Given the description of an element on the screen output the (x, y) to click on. 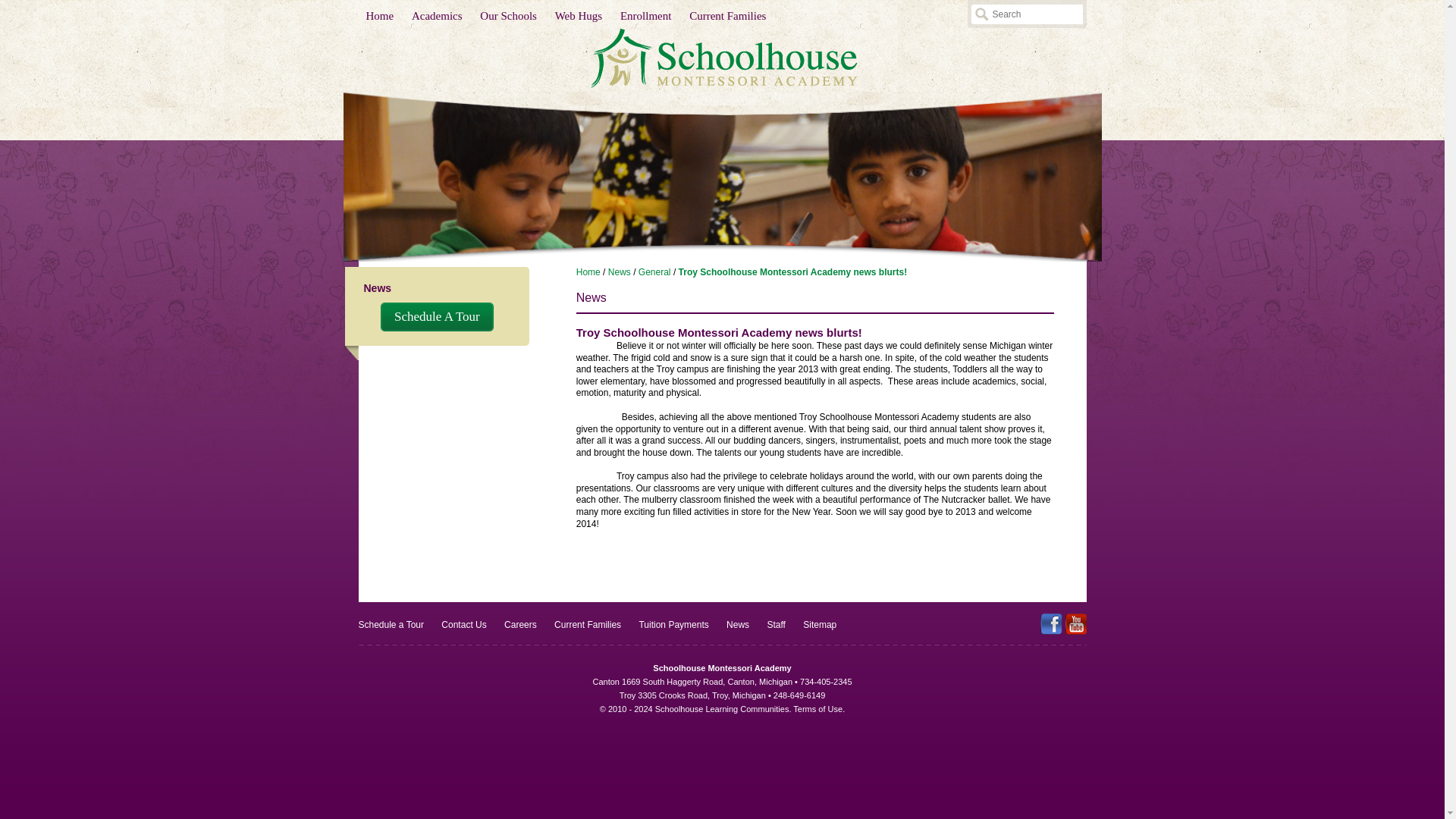
Enrollment (645, 15)
Academics (437, 15)
Sitemap (819, 624)
Tuition Payments (673, 624)
Careers (520, 624)
GO (981, 14)
Schedule A Tour (436, 316)
Contact Us (463, 624)
News (619, 271)
Home (379, 15)
